Given the description of an element on the screen output the (x, y) to click on. 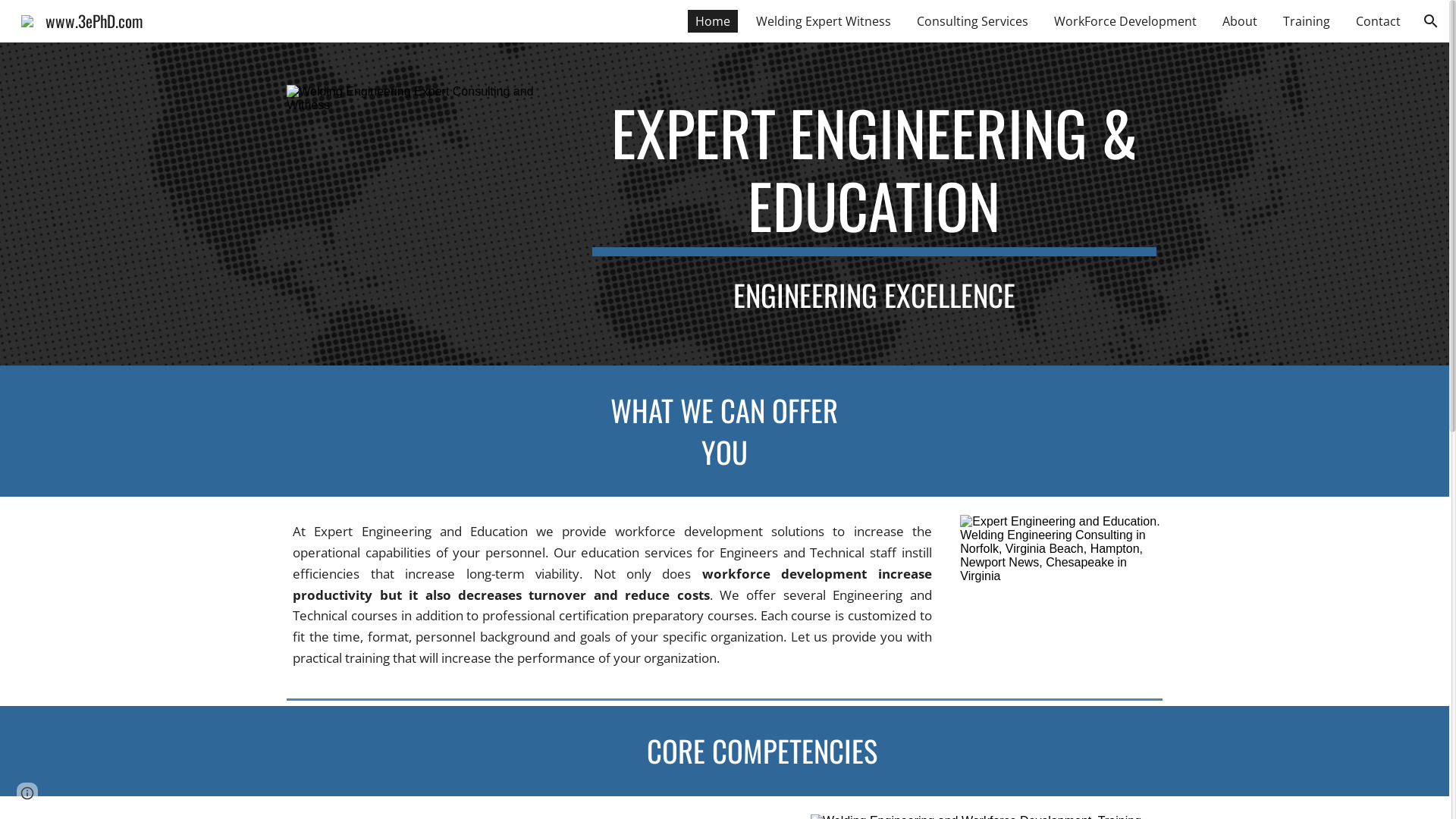
Home Element type: text (712, 20)
Contact Element type: text (1378, 20)
Welding Expert Witness Element type: text (823, 20)
About Element type: text (1239, 20)
Consulting Services Element type: text (972, 20)
WorkForce Development Element type: text (1125, 20)
www.3ePhD.com Element type: text (82, 18)
Training Element type: text (1306, 20)
